Given the description of an element on the screen output the (x, y) to click on. 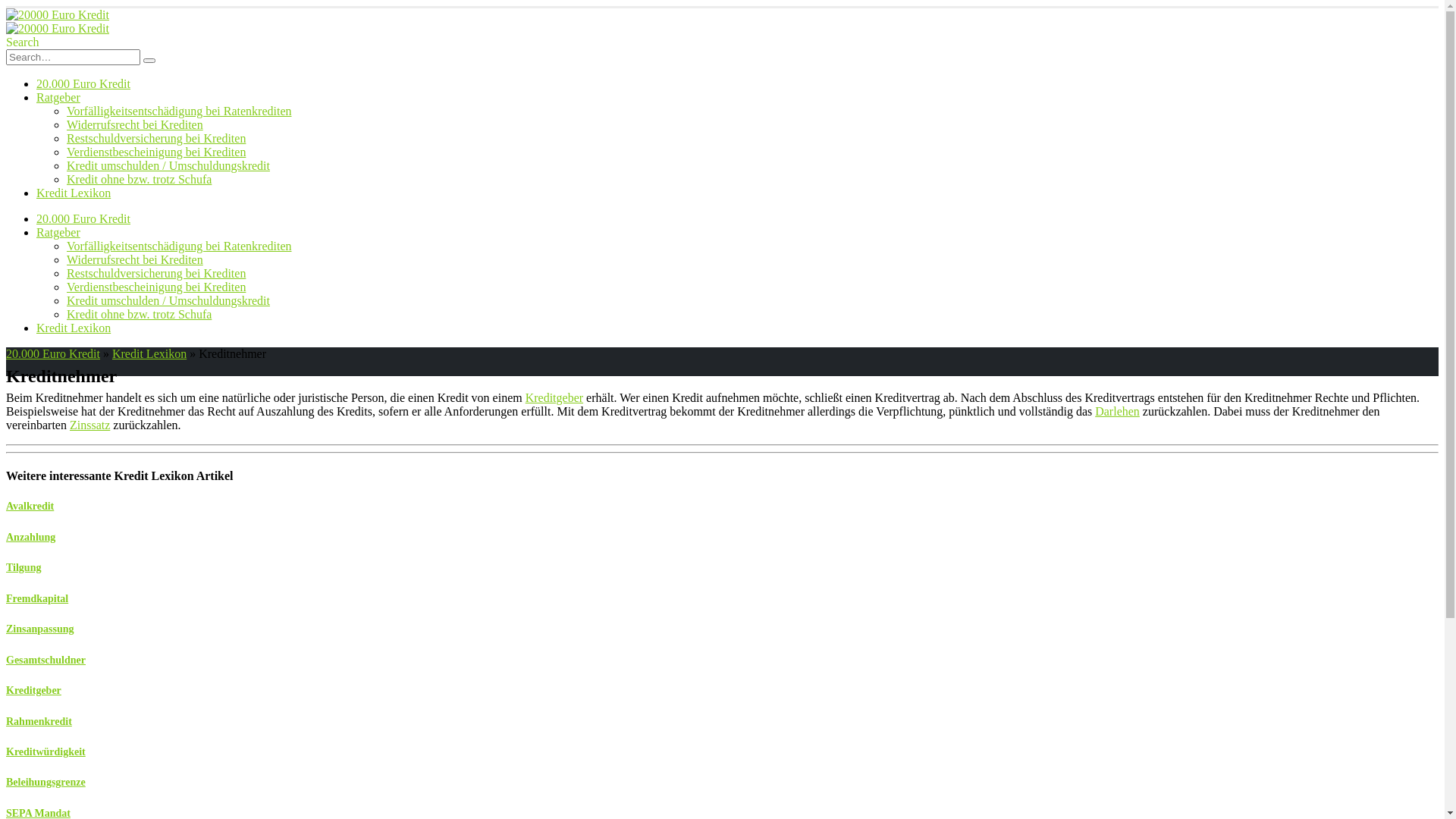
Darlehen Element type: text (1117, 410)
Anzahlung Element type: text (30, 536)
Widerrufsrecht bei Krediten Element type: text (134, 124)
Zinsanpassung Element type: text (40, 628)
Kredit ohne bzw. trotz Schufa Element type: text (138, 178)
Kredit umschulden / Umschuldungskredit Element type: text (167, 300)
Fremdkapital Element type: text (37, 598)
Restschuldversicherung bei Krediten Element type: text (155, 272)
Verdienstbescheinigung bei Krediten Element type: text (155, 286)
Restschuldversicherung bei Krediten Element type: text (155, 137)
Search Element type: text (22, 41)
Ratgeber Element type: text (58, 97)
20000 Euro Kredit -  Element type: hover (57, 21)
Kredit Lexikon Element type: text (149, 353)
Zinssatz Element type: text (89, 424)
20.000 Euro Kredit Element type: text (83, 83)
Verdienstbescheinigung bei Krediten Element type: text (155, 151)
Kredit umschulden / Umschuldungskredit Element type: text (167, 165)
Gesamtschuldner Element type: text (45, 659)
Beleihungsgrenze Element type: text (45, 781)
20.000 Euro Kredit Element type: text (53, 353)
Kredit ohne bzw. trotz Schufa Element type: text (138, 313)
Rahmenkredit Element type: text (39, 721)
Widerrufsrecht bei Krediten Element type: text (134, 259)
Avalkredit Element type: text (29, 505)
Kreditgeber Element type: text (554, 397)
Ratgeber Element type: text (58, 231)
Kredit Lexikon Element type: text (73, 192)
Tilgung Element type: text (23, 567)
Kredit Lexikon Element type: text (73, 327)
Kreditgeber Element type: text (33, 690)
Search Element type: hover (149, 60)
20.000 Euro Kredit Element type: text (83, 218)
